Given the description of an element on the screen output the (x, y) to click on. 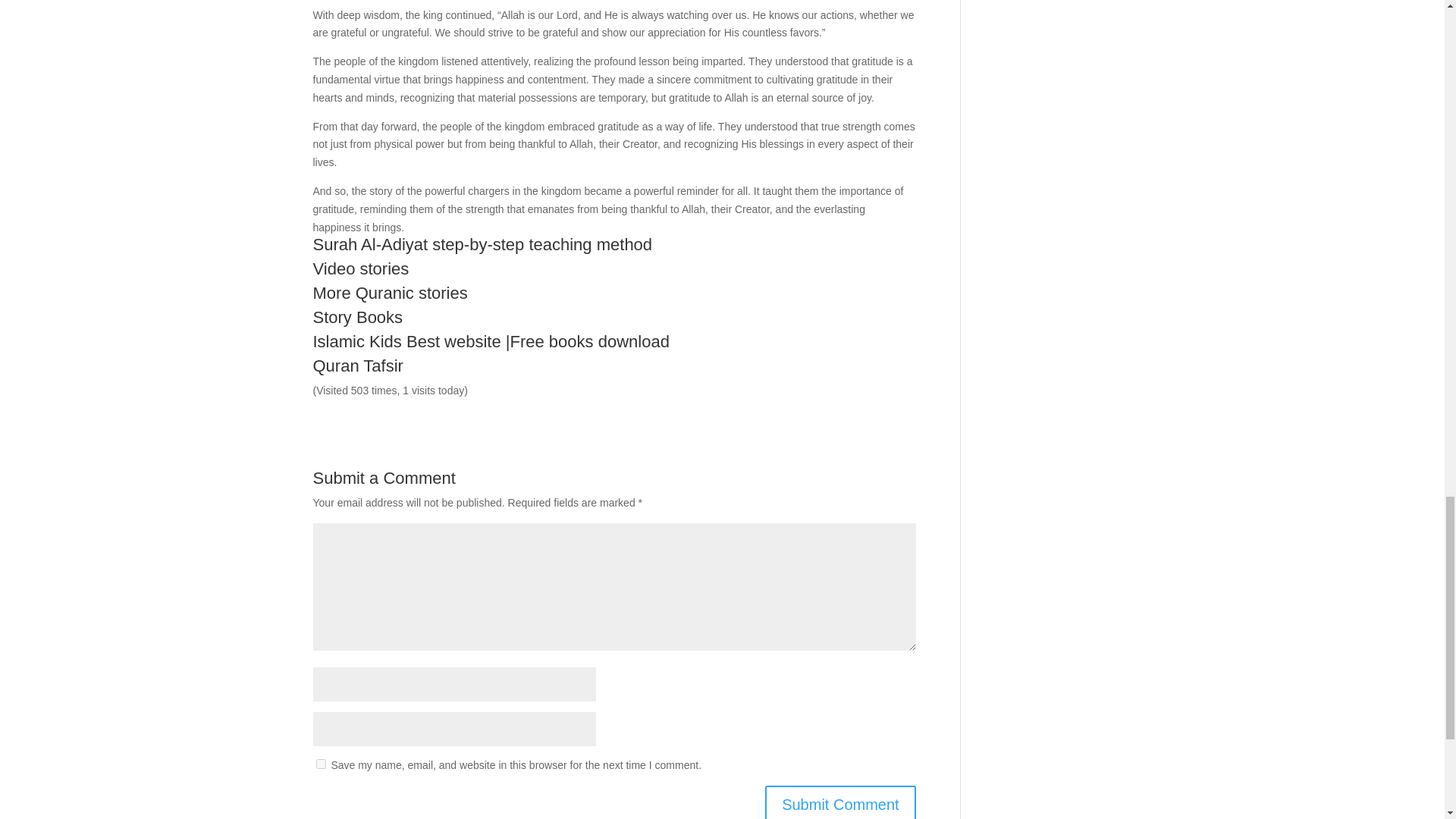
yes (319, 764)
Submit Comment (840, 802)
